Given the description of an element on the screen output the (x, y) to click on. 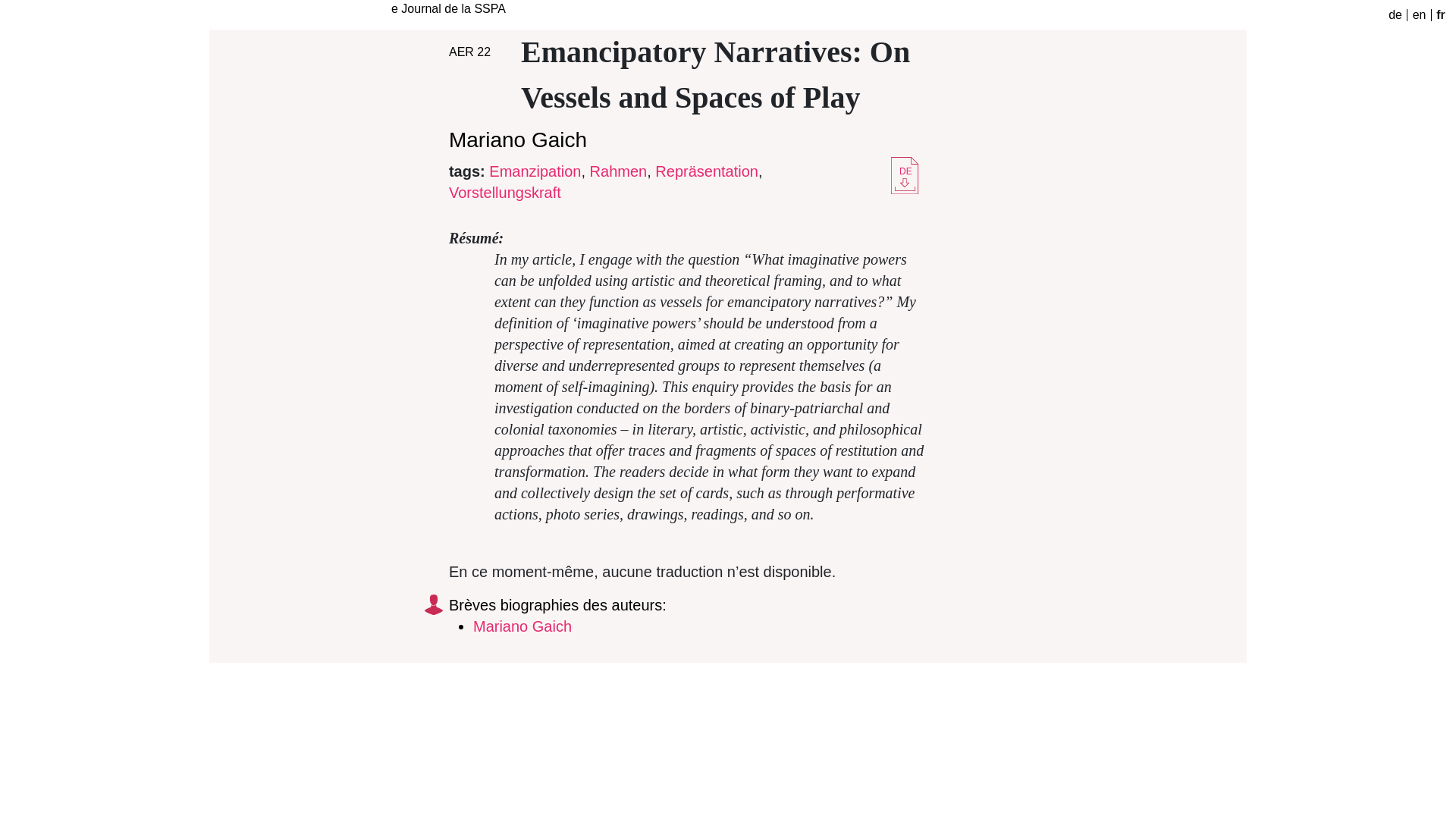
Mariano Gaich (517, 139)
Mariano Gaich (522, 626)
AER 22 (469, 51)
e Journal de la SSPA (448, 8)
Emanzipation (534, 170)
Rahmen (618, 170)
DE (904, 169)
Vorstellungskraft (504, 192)
